Given the description of an element on the screen output the (x, y) to click on. 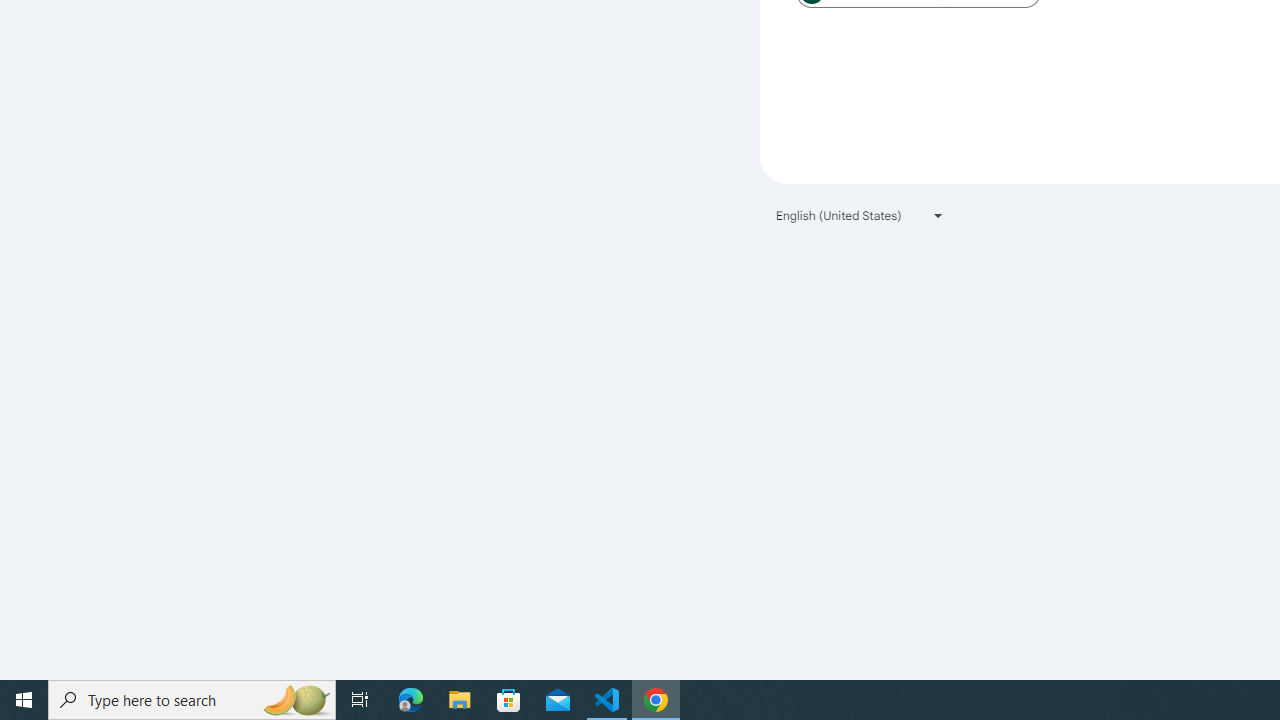
English (United States) (860, 214)
